Given the description of an element on the screen output the (x, y) to click on. 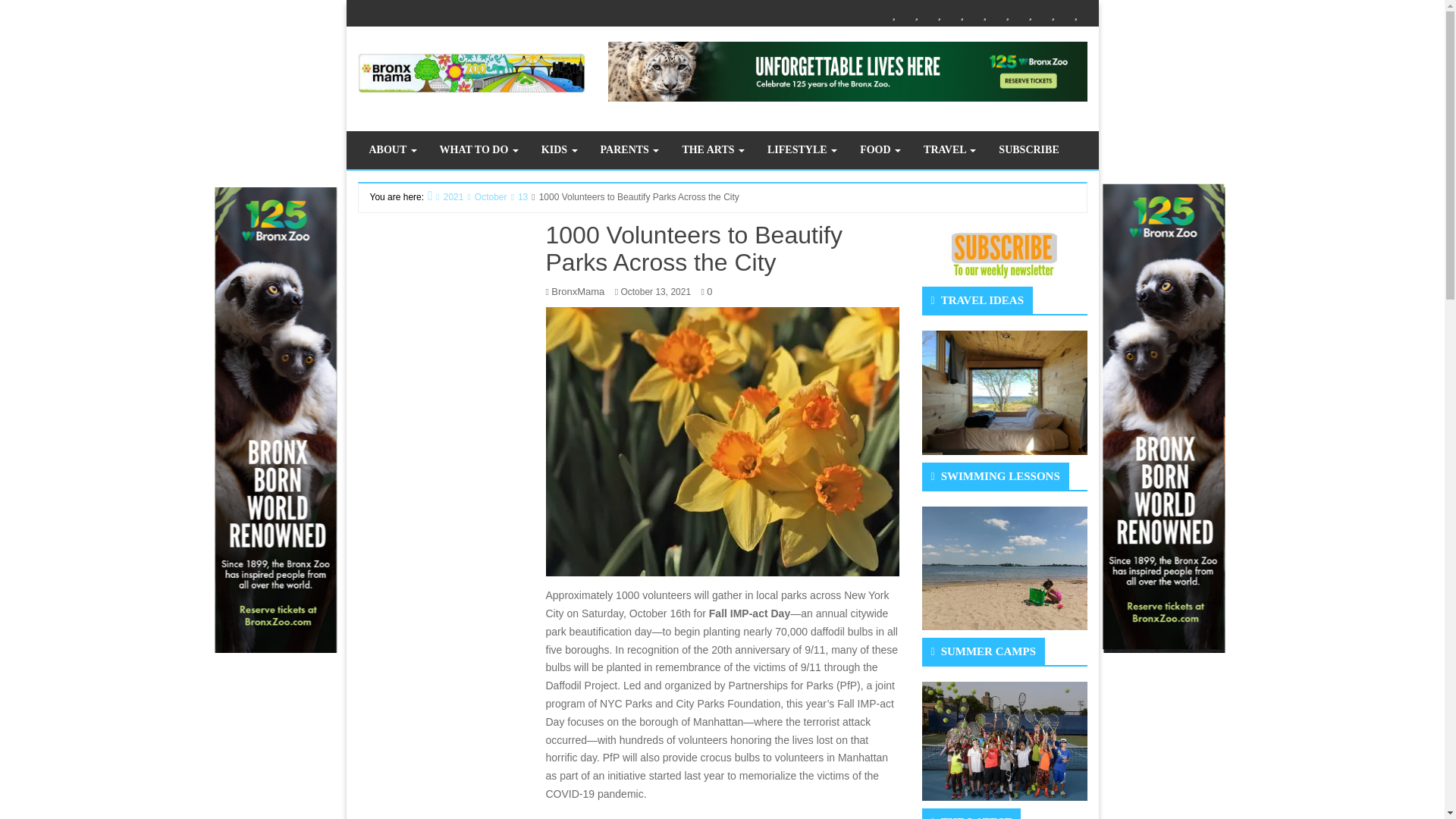
ABOUT (393, 149)
WHAT TO DO (915, 13)
ABOUT (393, 149)
ABOUT (892, 13)
THE ARTS (983, 13)
LIFESTYLE (1006, 13)
FOOD (1029, 13)
WHAT TO DO (478, 149)
SUBSCRIBE (1074, 13)
WHAT TO DO (478, 149)
